Given the description of an element on the screen output the (x, y) to click on. 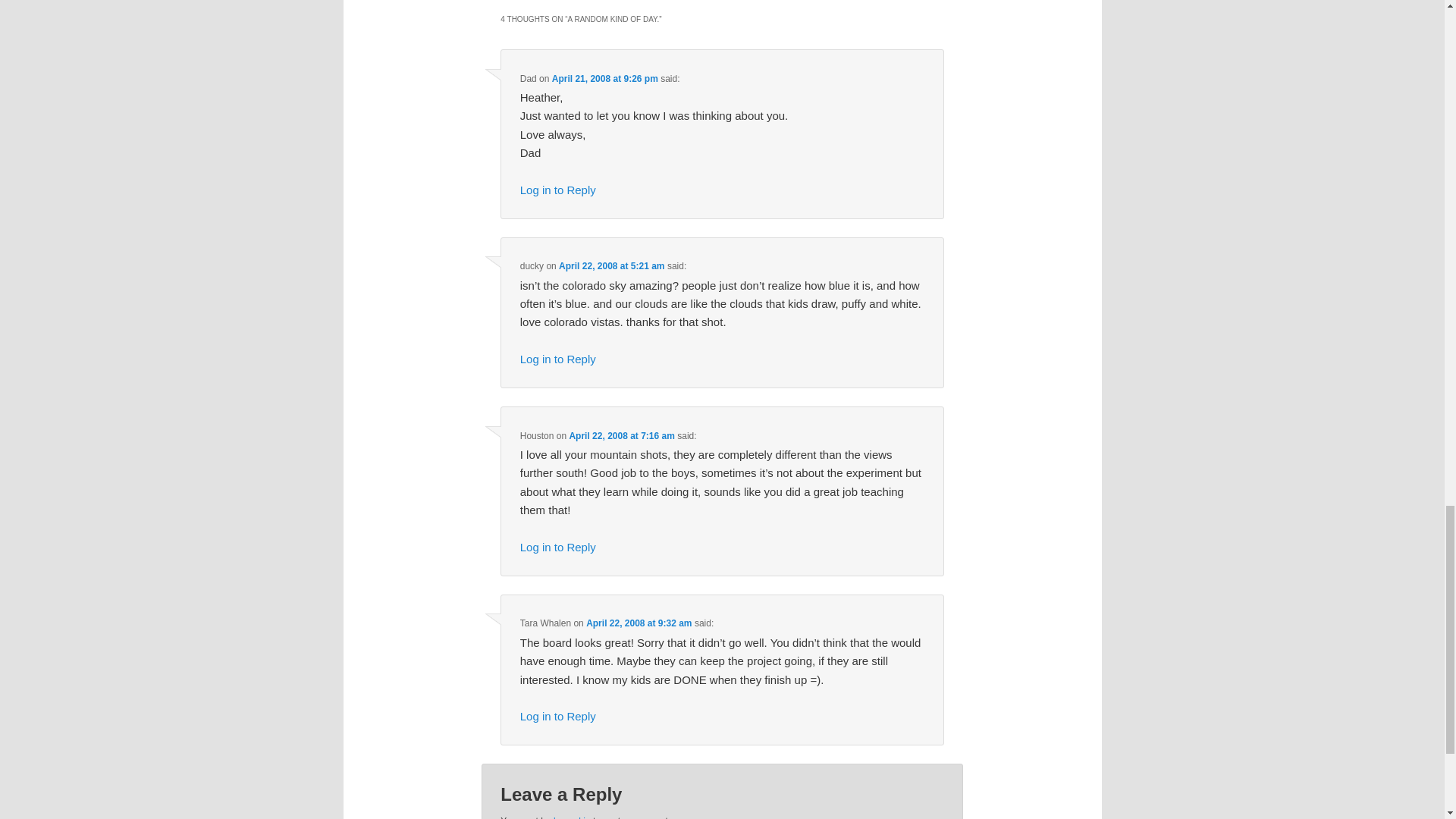
logged in (572, 817)
April 22, 2008 at 9:32 am (638, 623)
April 22, 2008 at 7:16 am (621, 435)
Log in to Reply (557, 358)
April 21, 2008 at 9:26 pm (604, 78)
April 22, 2008 at 5:21 am (611, 266)
Log in to Reply (557, 716)
Log in to Reply (557, 189)
Log in to Reply (557, 546)
